Given the description of an element on the screen output the (x, y) to click on. 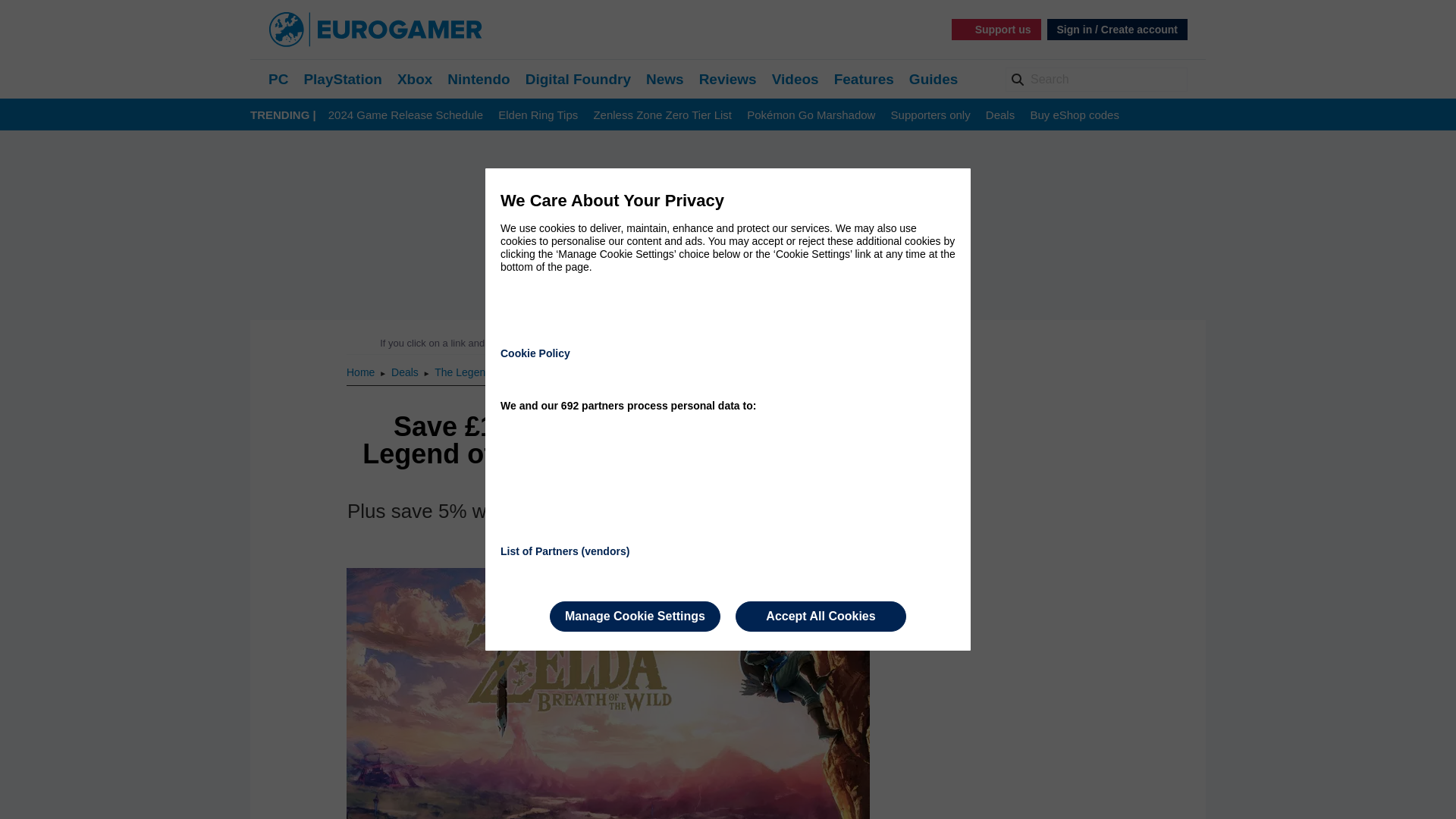
Nintendo (477, 78)
Buy eShop codes (1074, 114)
Home (361, 372)
The Legend of Zelda: Breath of the Wild (528, 372)
Guides (933, 78)
PlayStation (341, 78)
Reviews (727, 78)
Deals (406, 372)
Support us (996, 29)
PlayStation (341, 78)
Read our editorial policy (781, 342)
Xbox (414, 78)
Deals (406, 372)
Buy eShop codes (1074, 114)
Zenless Zone Zero Tier List (662, 114)
